Given the description of an element on the screen output the (x, y) to click on. 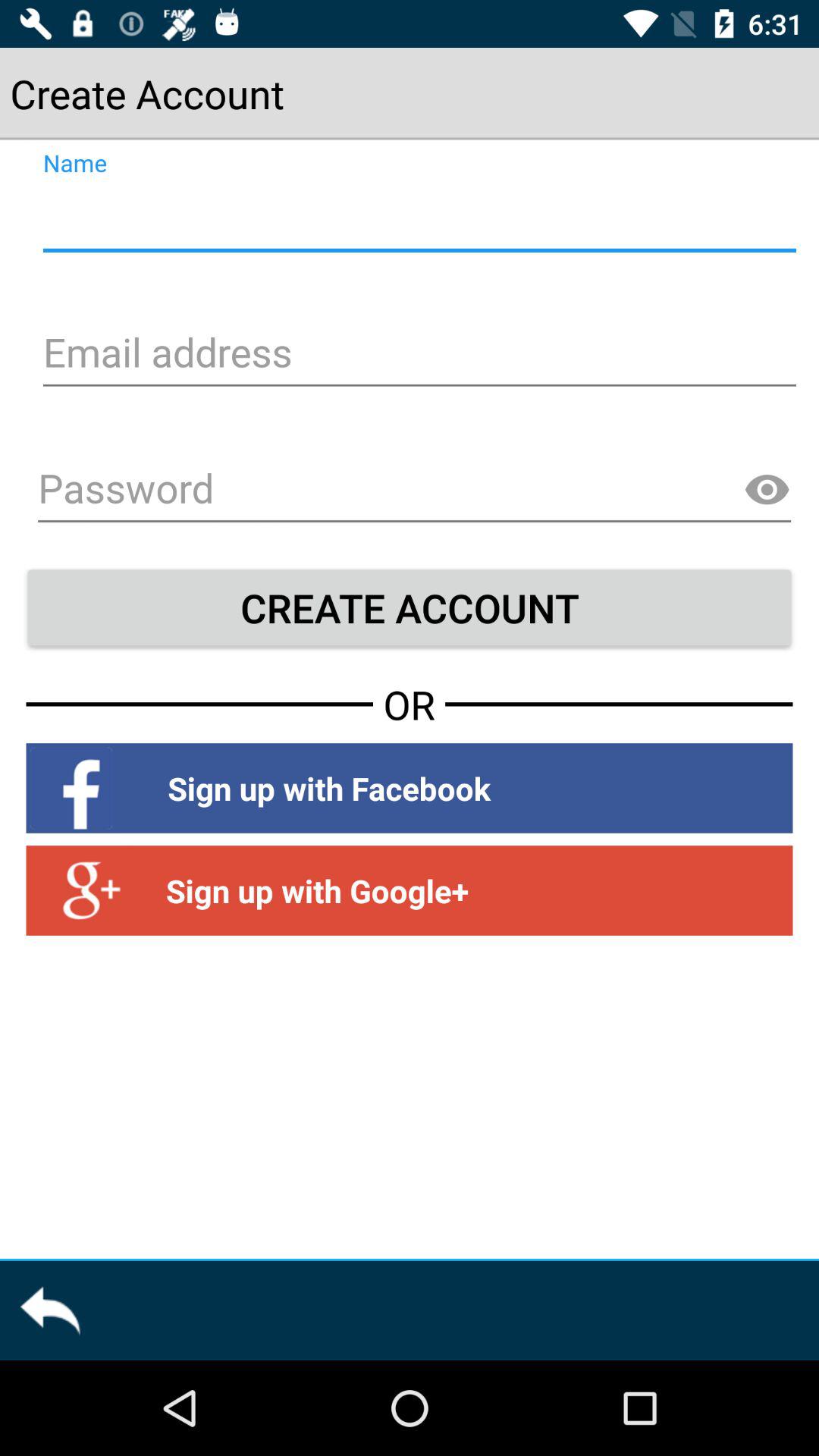
enter password (414, 490)
